Given the description of an element on the screen output the (x, y) to click on. 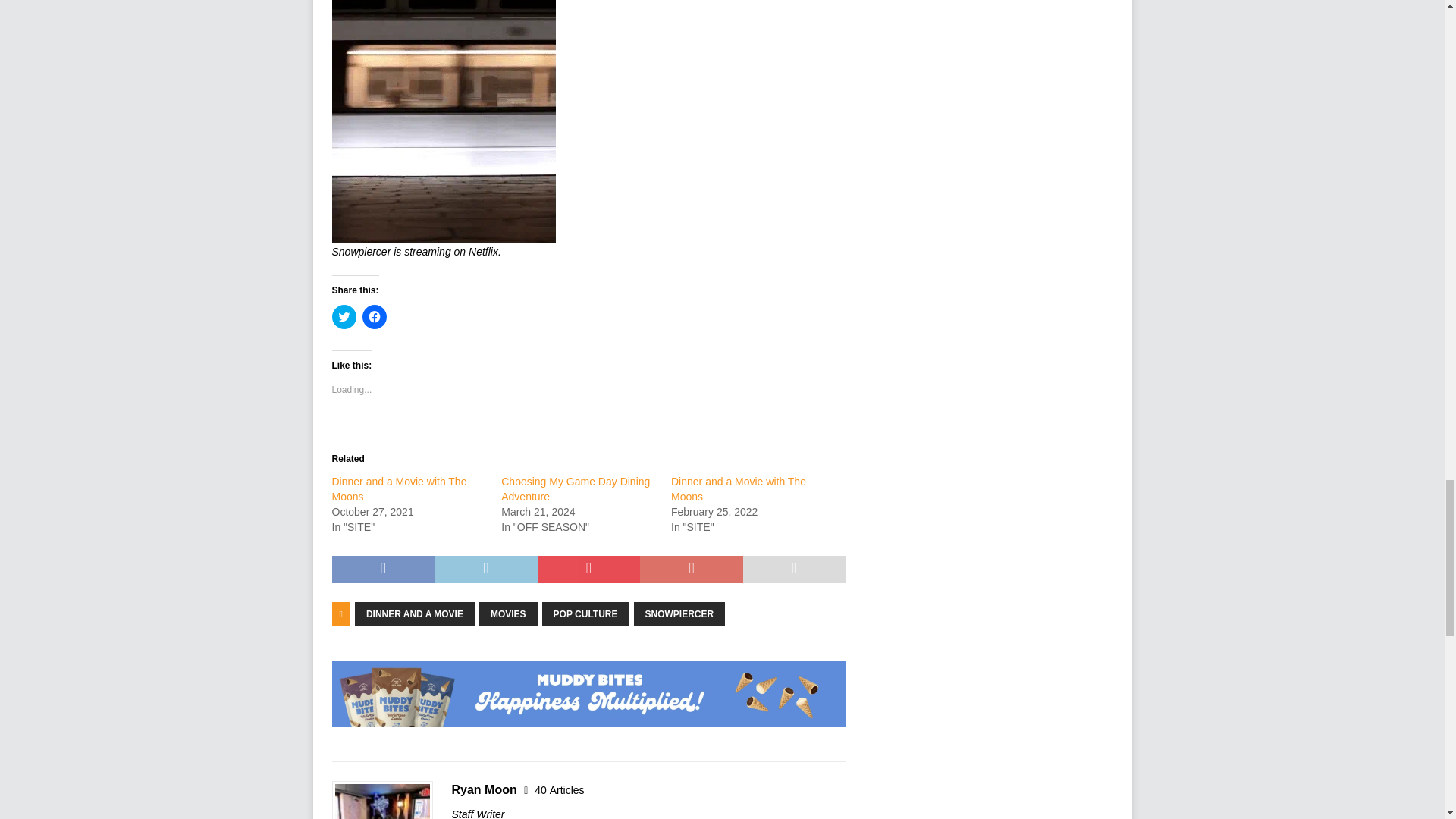
Click to share on Twitter (343, 316)
Dinner and a Movie with The Moons (738, 488)
Dinner and a Movie with The Moons (399, 488)
Click to share on Facebook (374, 316)
Choosing My Game Day Dining Adventure (574, 488)
